Given the description of an element on the screen output the (x, y) to click on. 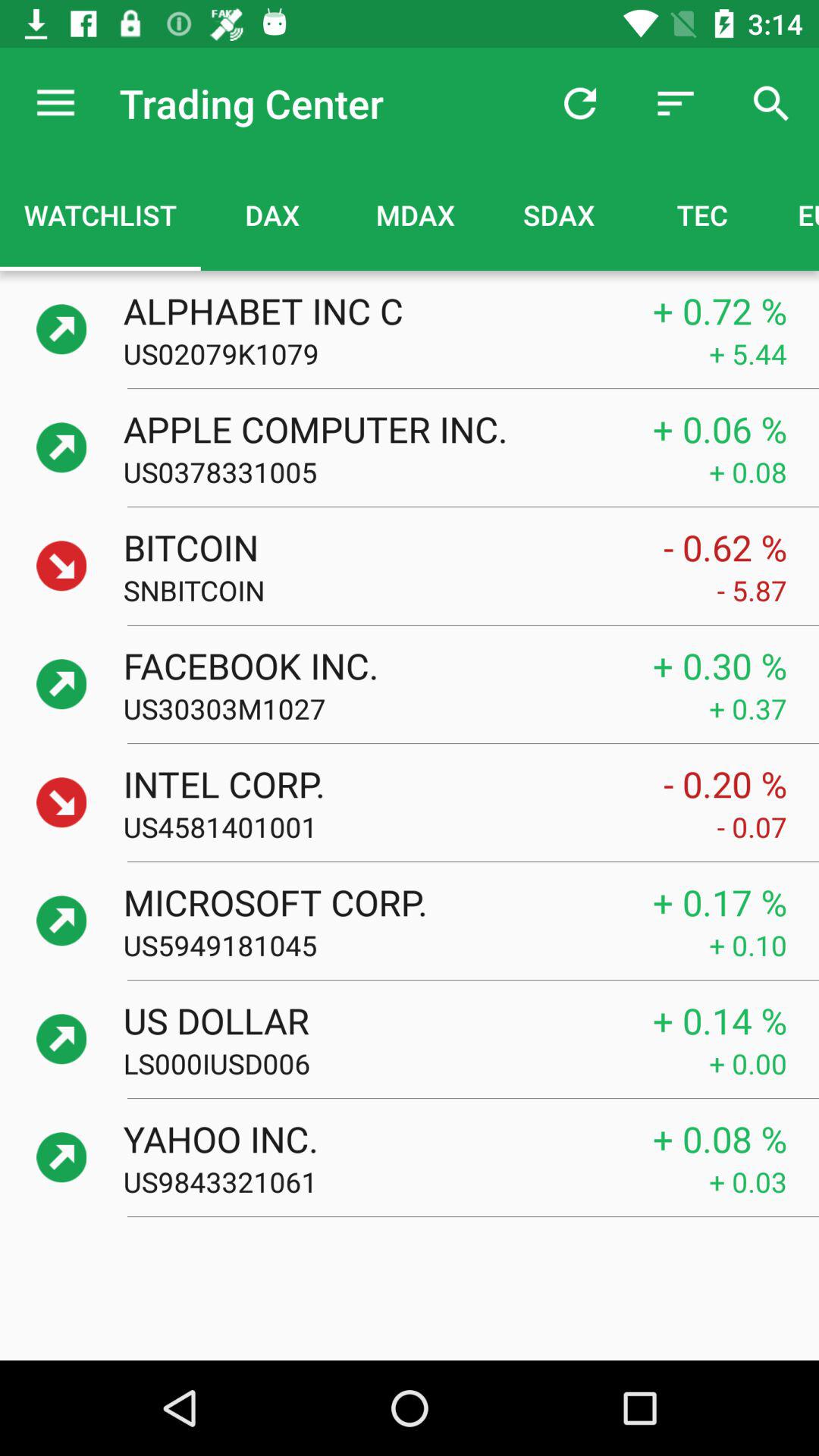
turn on the item above the us0378331005 item (372, 428)
